Given the description of an element on the screen output the (x, y) to click on. 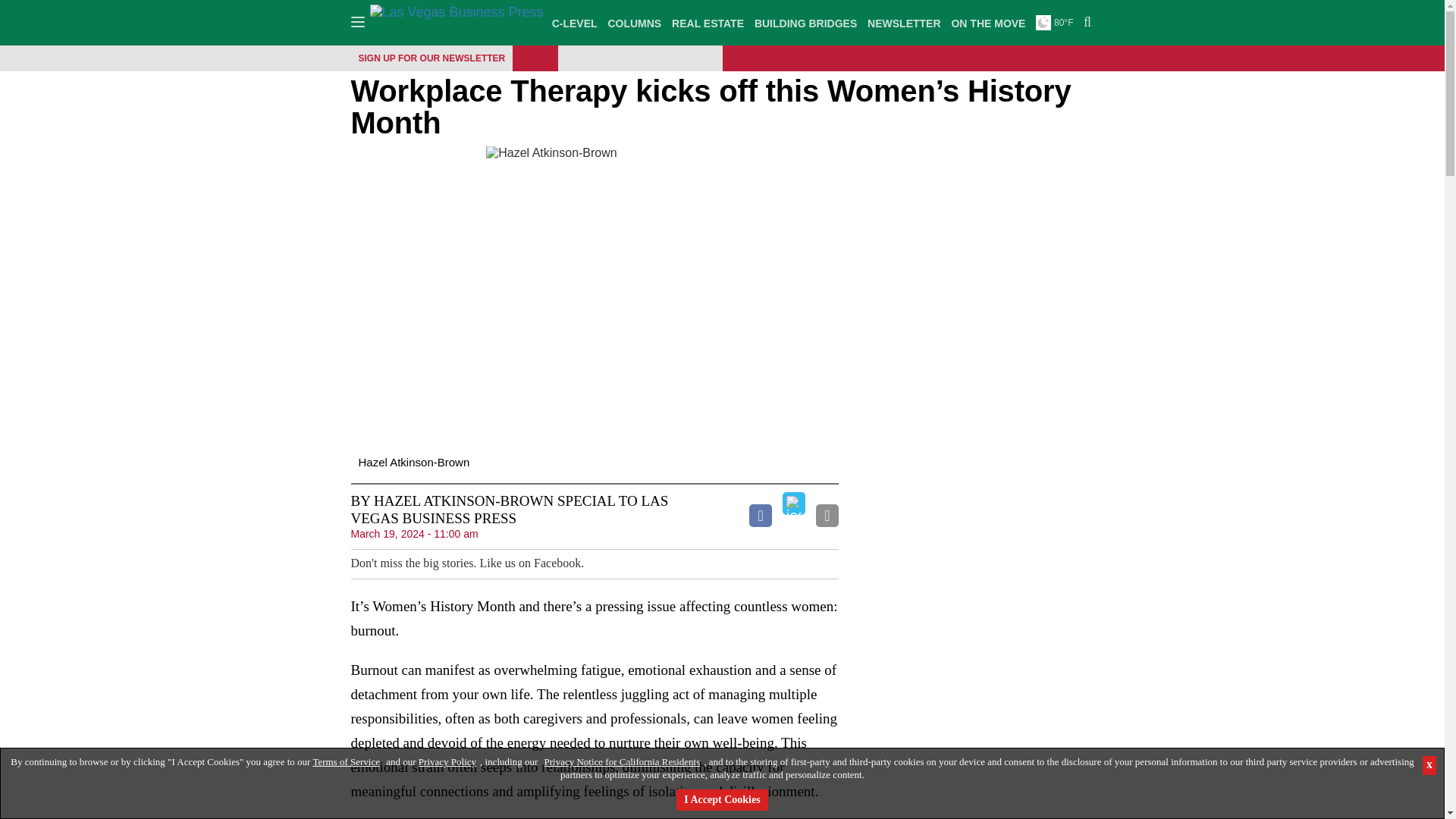
C-LEVEL (574, 22)
ON THE MOVE (988, 22)
REAL ESTATE (708, 22)
COLUMNS (634, 22)
NEWSLETTER (903, 22)
BUILDING BRIDGES (805, 22)
Search (1085, 22)
